Given the description of an element on the screen output the (x, y) to click on. 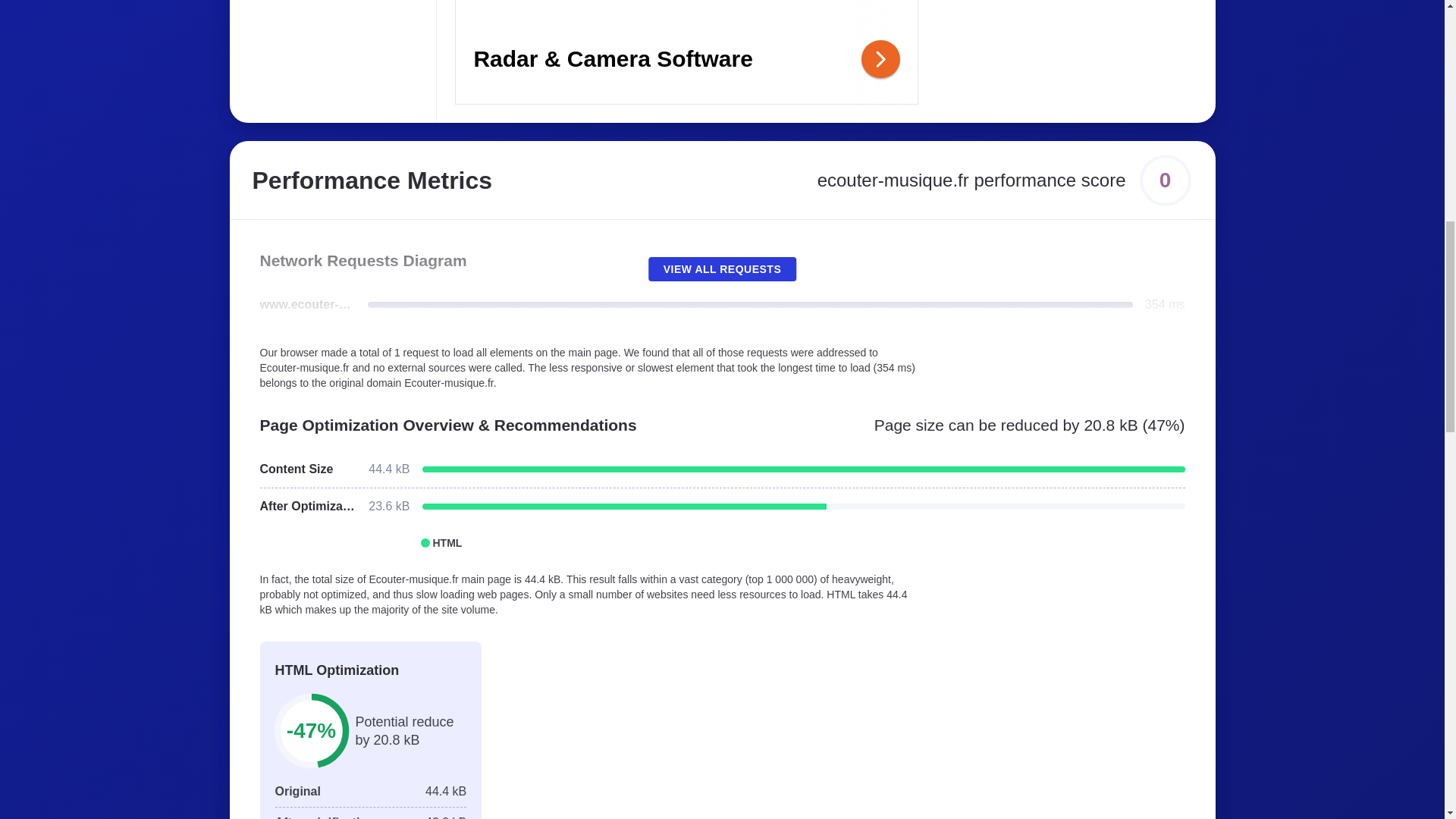
VIEW ALL REQUESTS (721, 269)
Advertisement (686, 52)
